Given the description of an element on the screen output the (x, y) to click on. 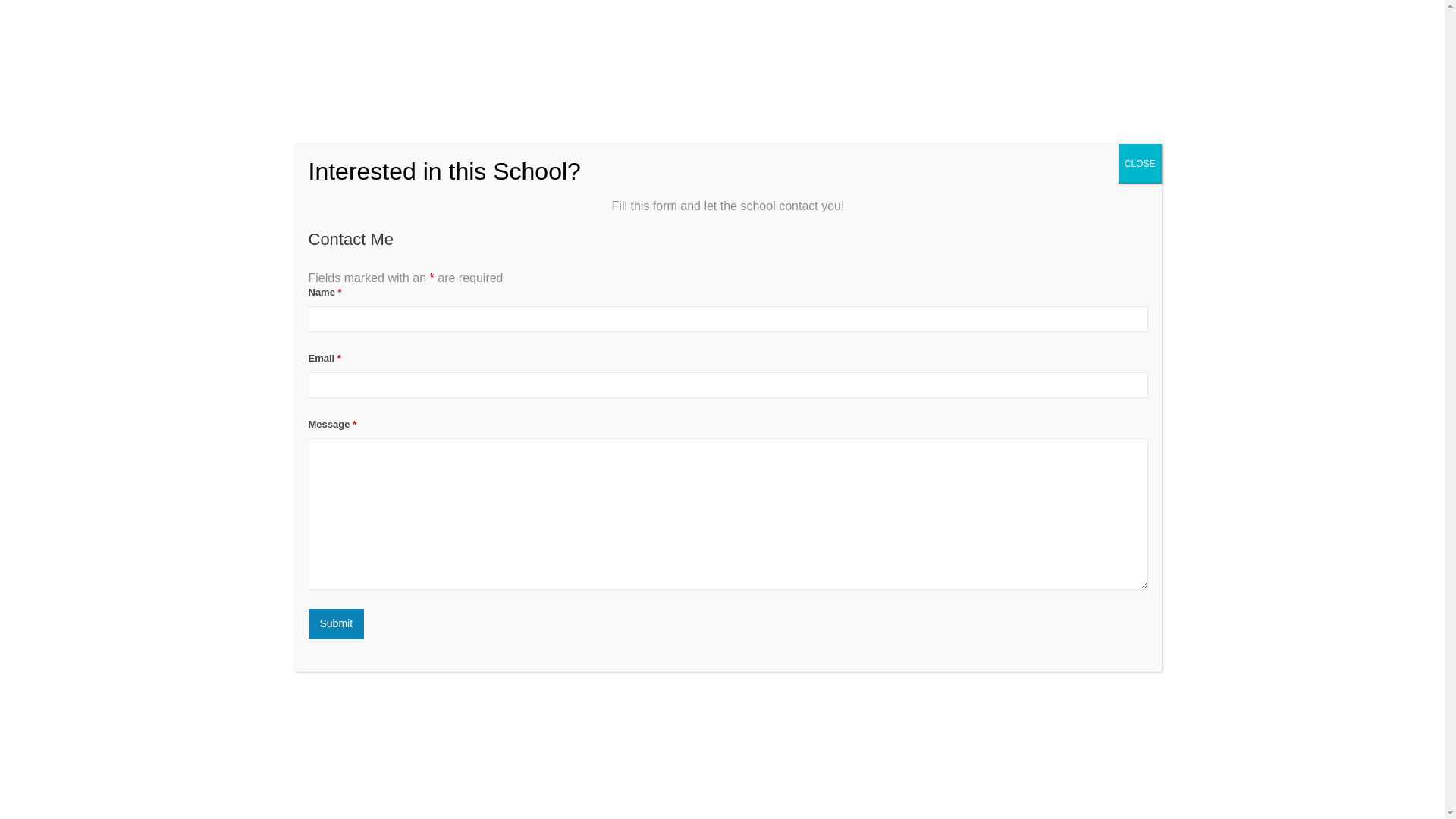
Share (1128, 390)
Share (1128, 390)
Submit (335, 624)
Post New Review (402, 457)
South Korea (330, 355)
Submit (335, 624)
Not rated yet! (307, 325)
MBA RANKINGS (852, 30)
CONTACT (1118, 30)
Seoul (377, 355)
MBA Reviews (357, 29)
BLOG (1061, 30)
CLOSE (1139, 163)
MBA ACCREDITATIONS (967, 30)
Description (308, 457)
